Given the description of an element on the screen output the (x, y) to click on. 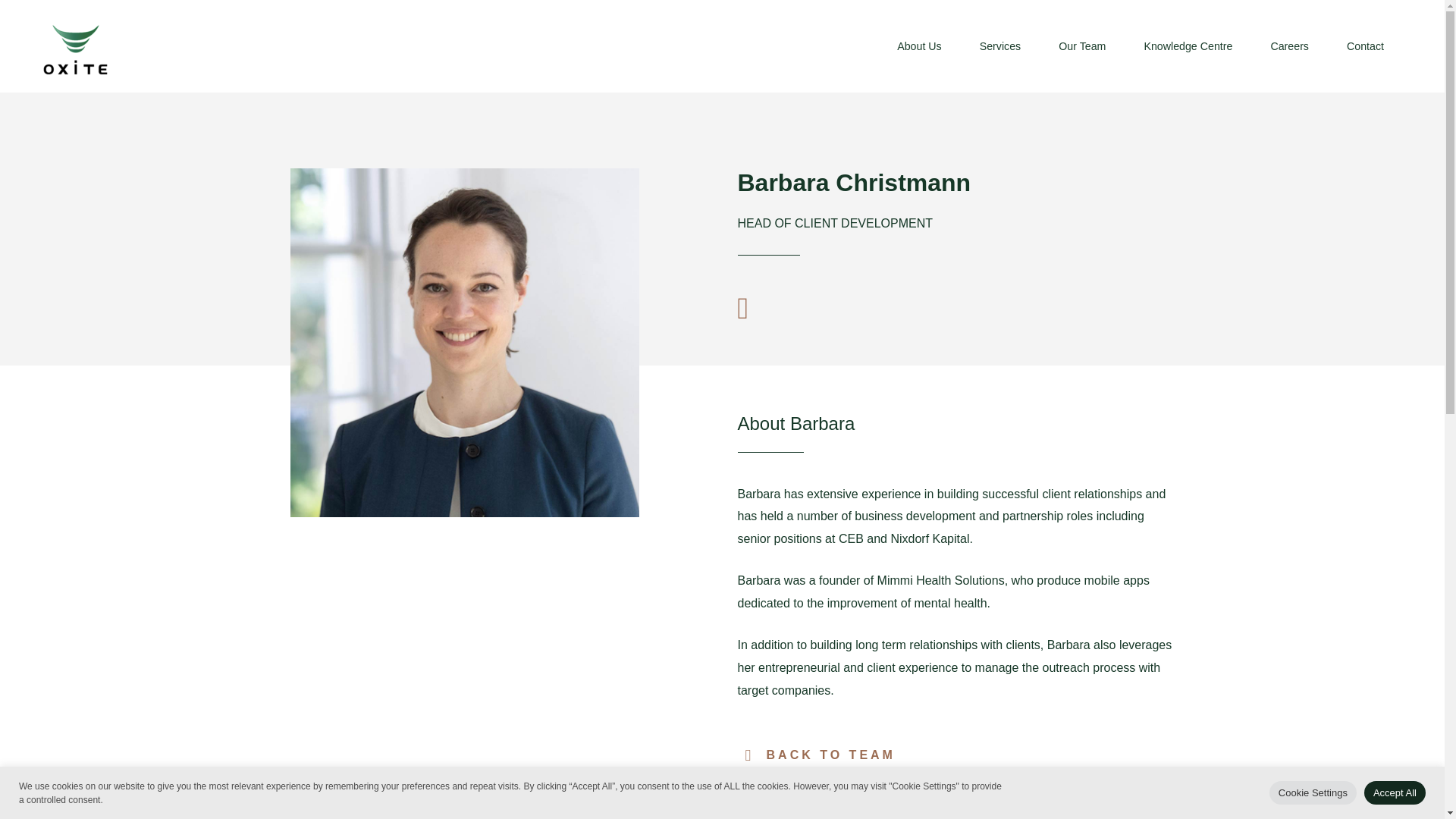
Services (1000, 46)
Careers (1288, 46)
BACK TO TEAM (819, 755)
About Us (918, 46)
Barbara-Christmann (464, 342)
Cookie Settings (1312, 792)
Contact (1365, 46)
Our Team (1081, 46)
Knowledge Centre (1187, 46)
